Given the description of an element on the screen output the (x, y) to click on. 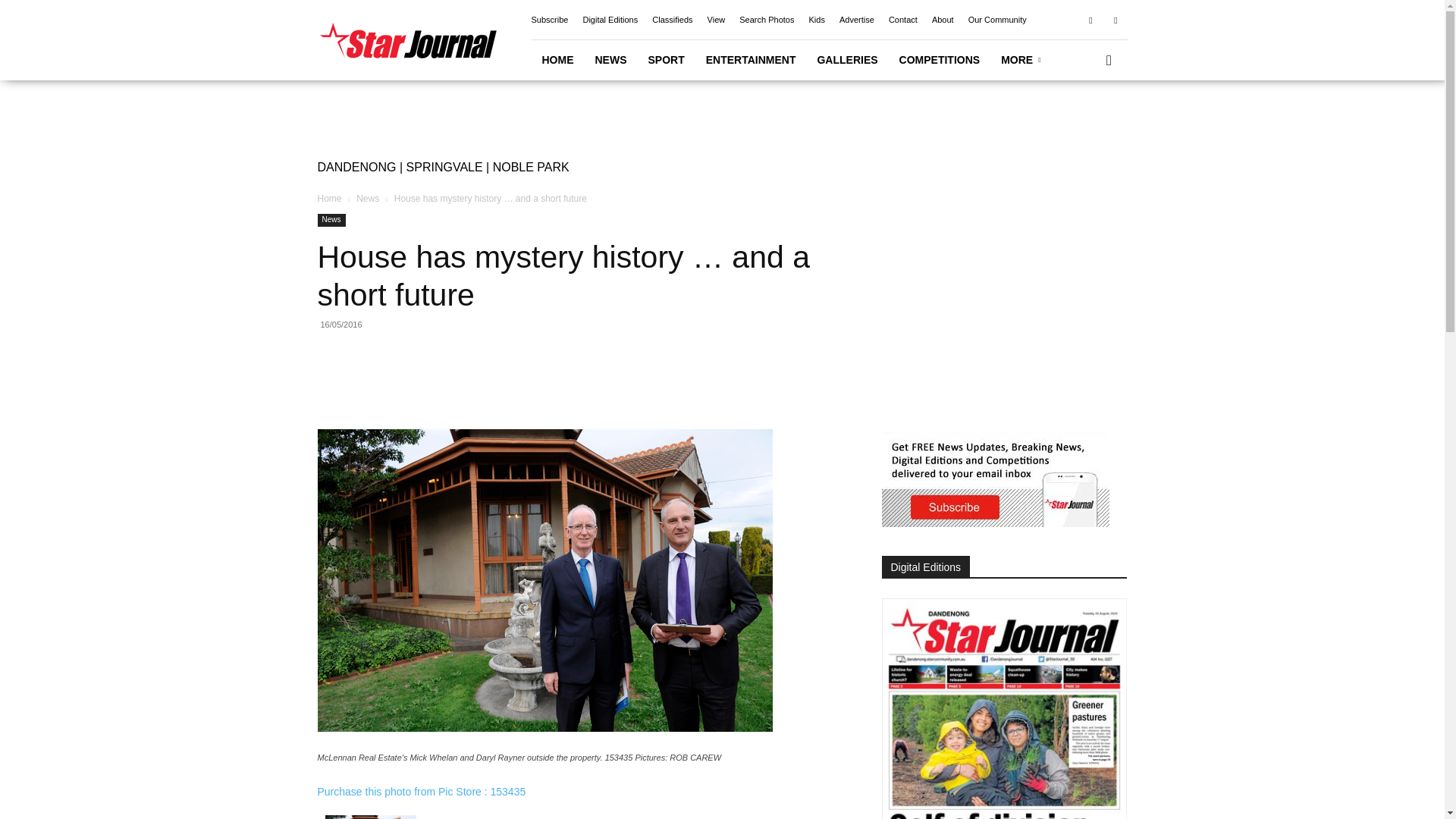
View (716, 19)
3rd party ad content (994, 308)
Advertise (857, 19)
Kids (816, 19)
Digital Editions (609, 19)
Twitter (1114, 19)
Our Community (997, 19)
Classifieds (672, 19)
Facebook (1090, 19)
Subscribe (549, 19)
